Given the description of an element on the screen output the (x, y) to click on. 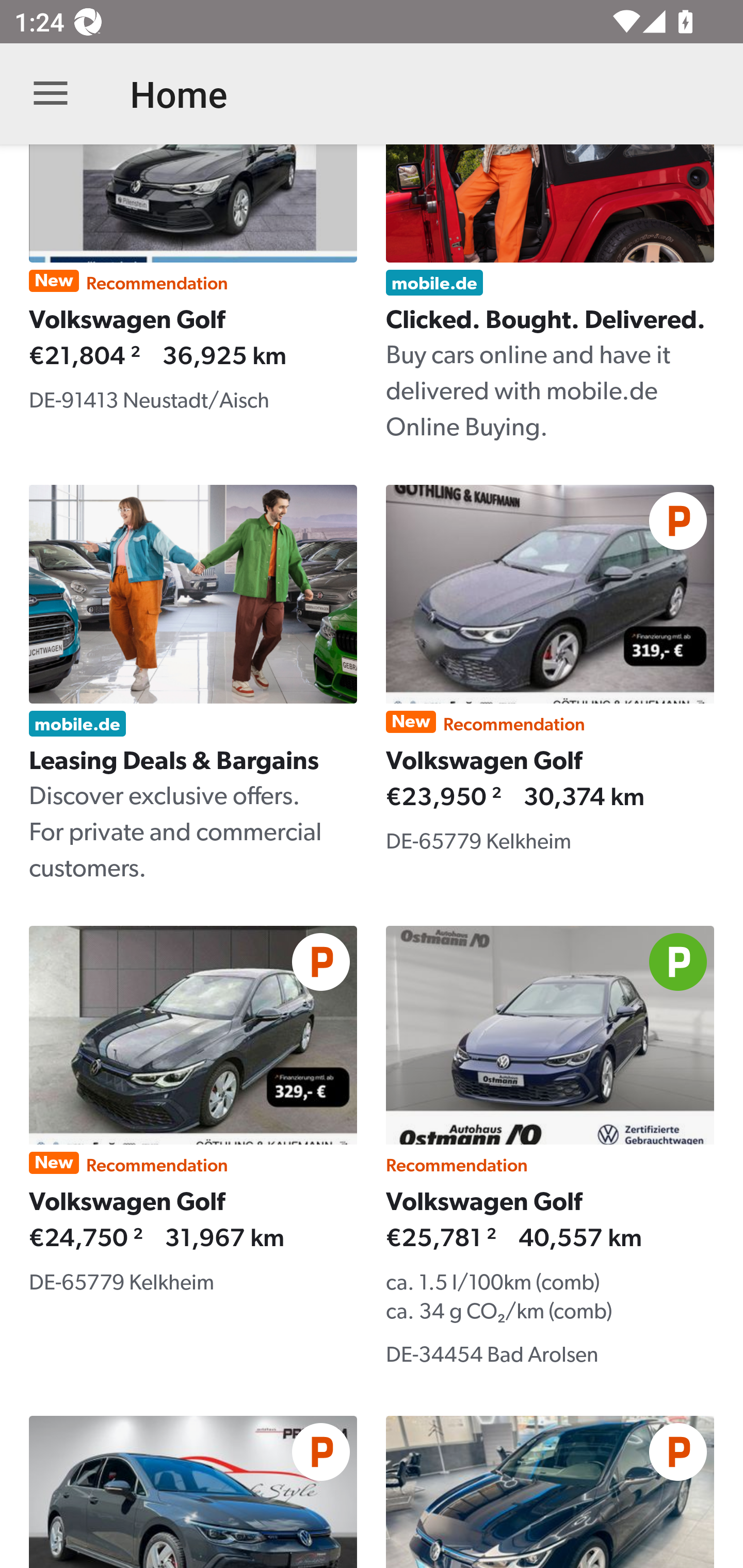
Open navigation bar (50, 93)
